Given the description of an element on the screen output the (x, y) to click on. 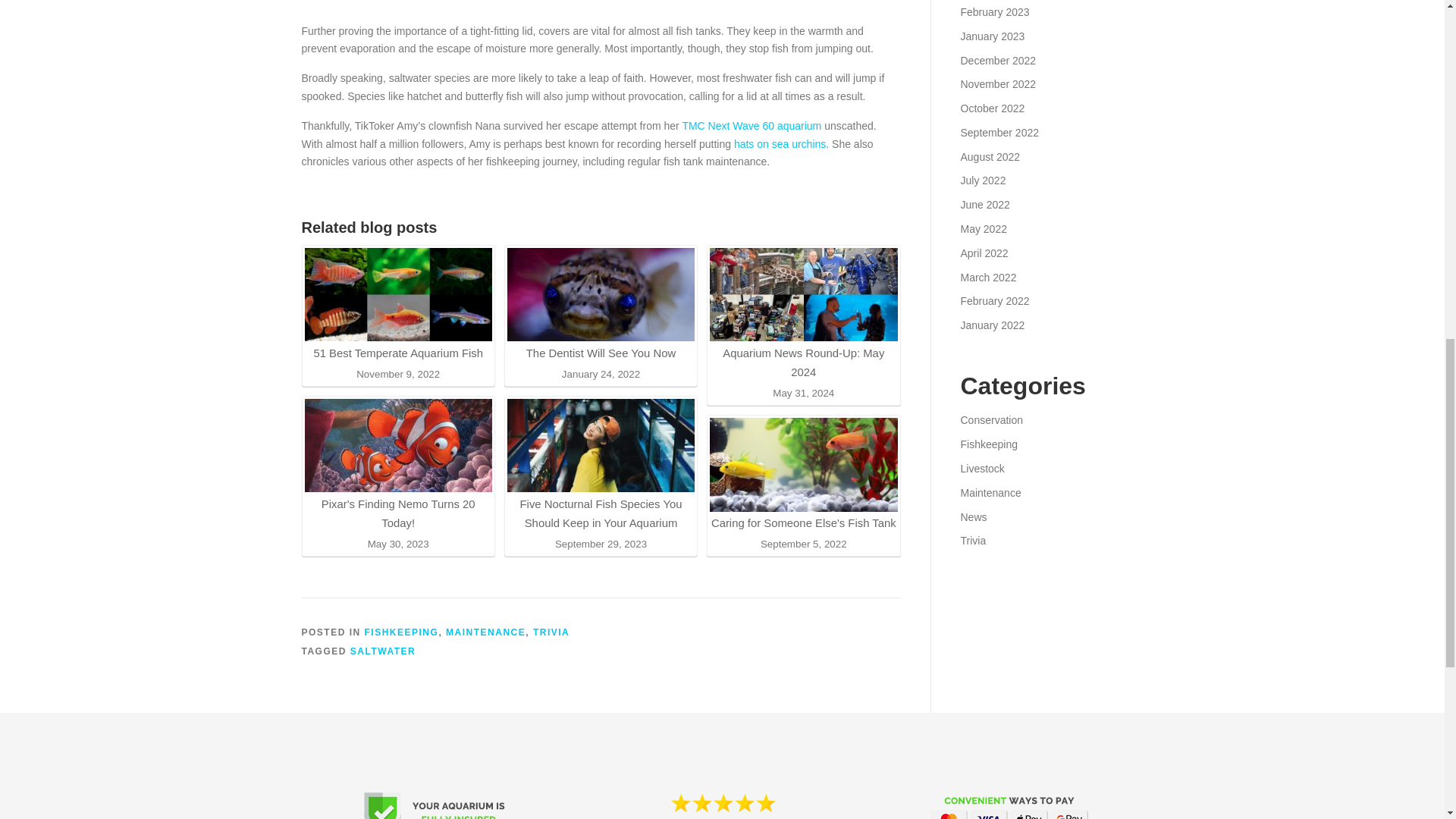
TMC Next Wave 60 aquarium (751, 125)
Five Nocturnal Fish Species You Should Keep in Your Aquarium (600, 445)
Caring for Someone Else's Fish Tank (803, 464)
The Dentist Will See You Now (600, 295)
Aquarium News Round-Up: May 2024 (803, 315)
51 Best Temperate Aquarium Fish (398, 295)
Aquarium News Round-Up: May 2024 (803, 295)
Five Nocturnal Fish Species You Should Keep in Your Aquarium (600, 465)
Caring for Someone Else's Fish Tank (803, 475)
Pixar's Finding Nemo Turns 20 Today! (398, 445)
